Given the description of an element on the screen output the (x, y) to click on. 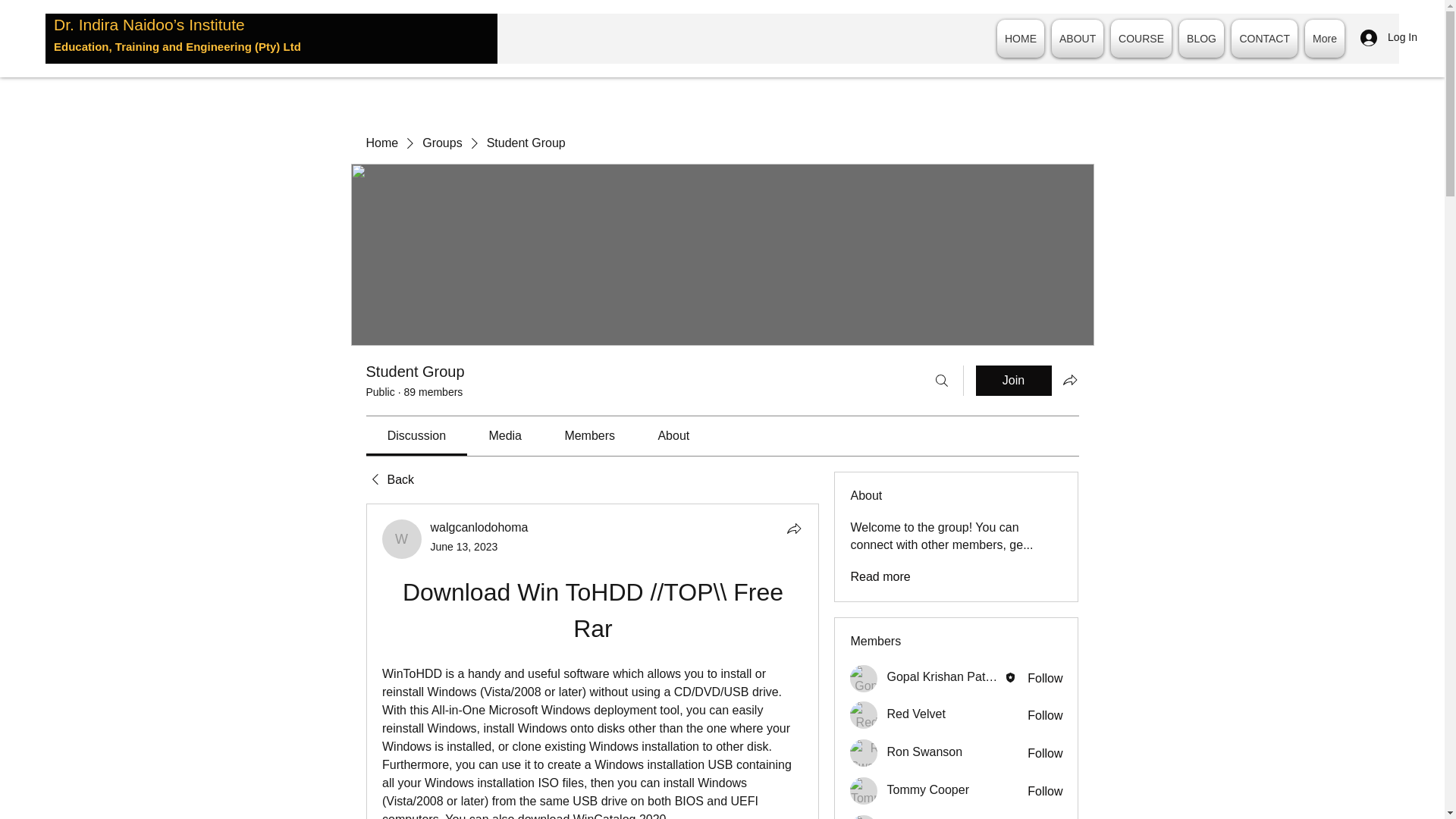
Groups (441, 143)
Follow (1044, 753)
Read more (880, 576)
CONTACT (1264, 38)
walgcanlodohoma (401, 538)
walgcanlodohoma (479, 526)
Ron Swanson (863, 752)
Logan leo (863, 816)
Gopal Krishan Pathak (863, 678)
BLOG (1200, 38)
Home (381, 143)
Gopal Krishan Pathak (945, 676)
HOME (1020, 38)
ABOUT (1077, 38)
Join (1013, 380)
